Given the description of an element on the screen output the (x, y) to click on. 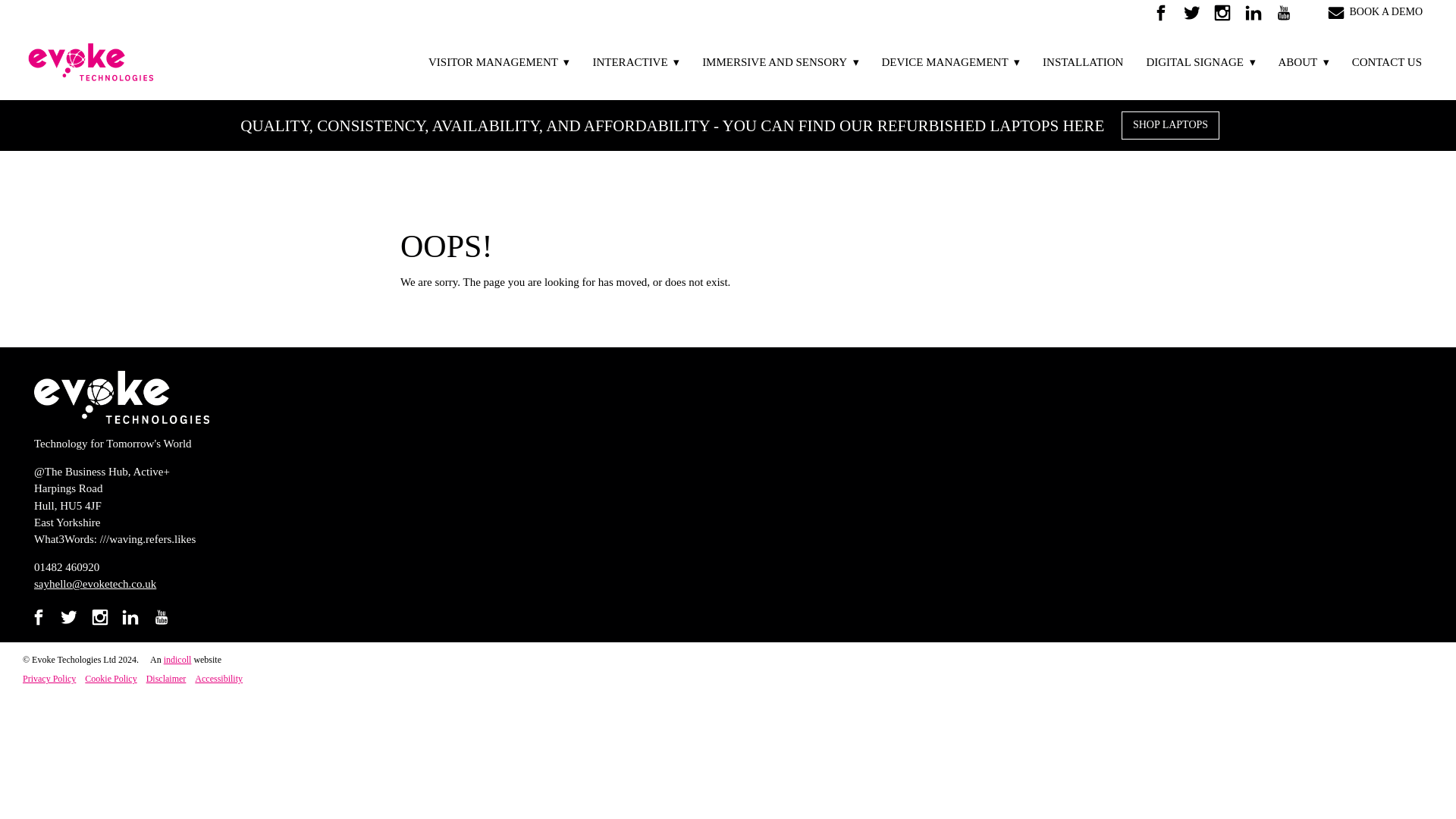
indicoll Ltd. (177, 659)
Email Evoke Techologies Ltd (94, 583)
VISITOR MANAGEMENT (498, 61)
BOOK A DEMO (1377, 12)
